Given the description of an element on the screen output the (x, y) to click on. 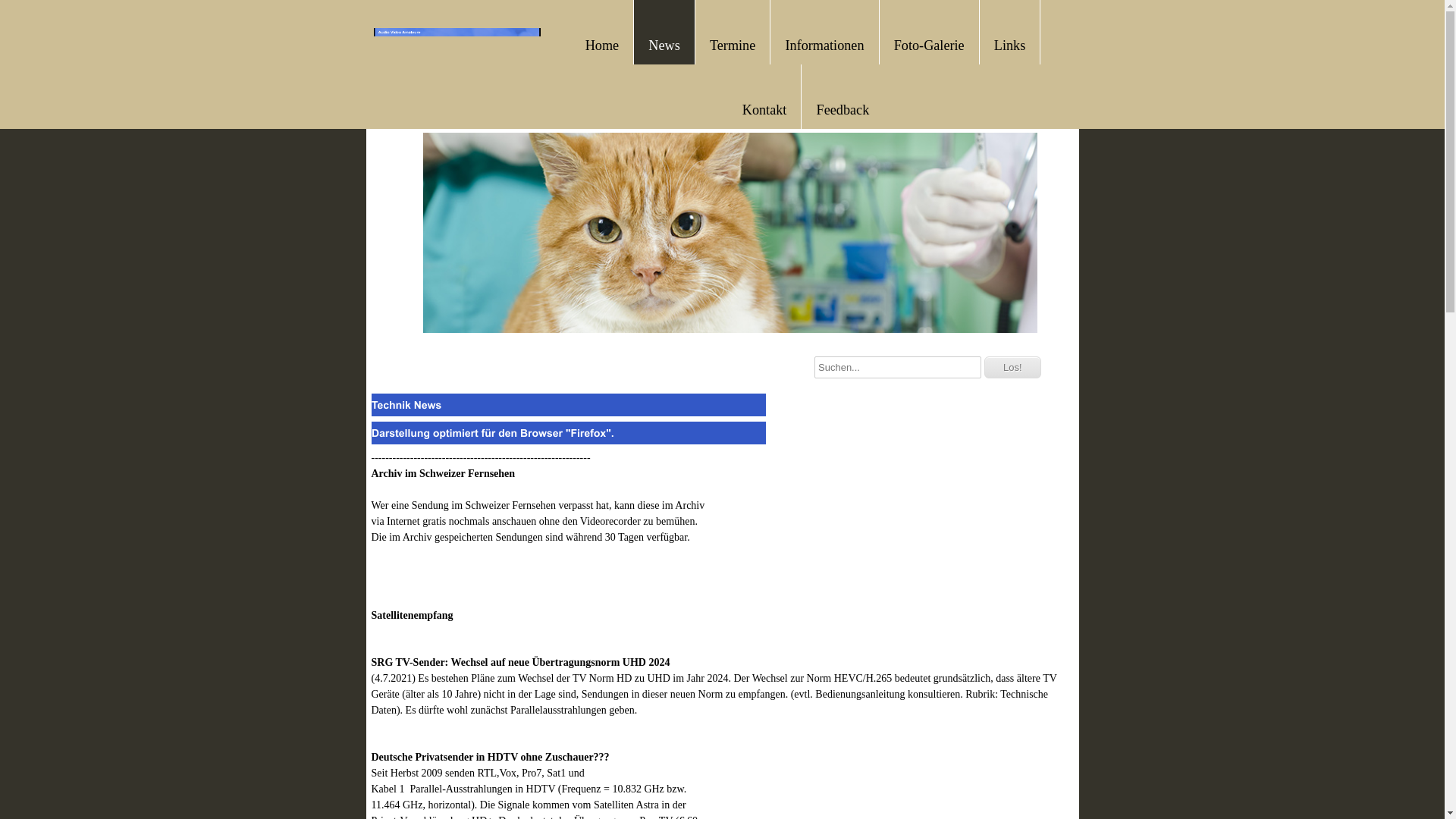
Links Element type: text (1009, 43)
Home Element type: text (601, 43)
News Element type: text (663, 43)
Foto-Galerie Element type: text (929, 43)
Los! Element type: text (1012, 367)
Feedback Element type: text (843, 107)
Kontakt Element type: text (764, 107)
Informationen Element type: text (824, 43)
Termine Element type: text (732, 43)
